Given the description of an element on the screen output the (x, y) to click on. 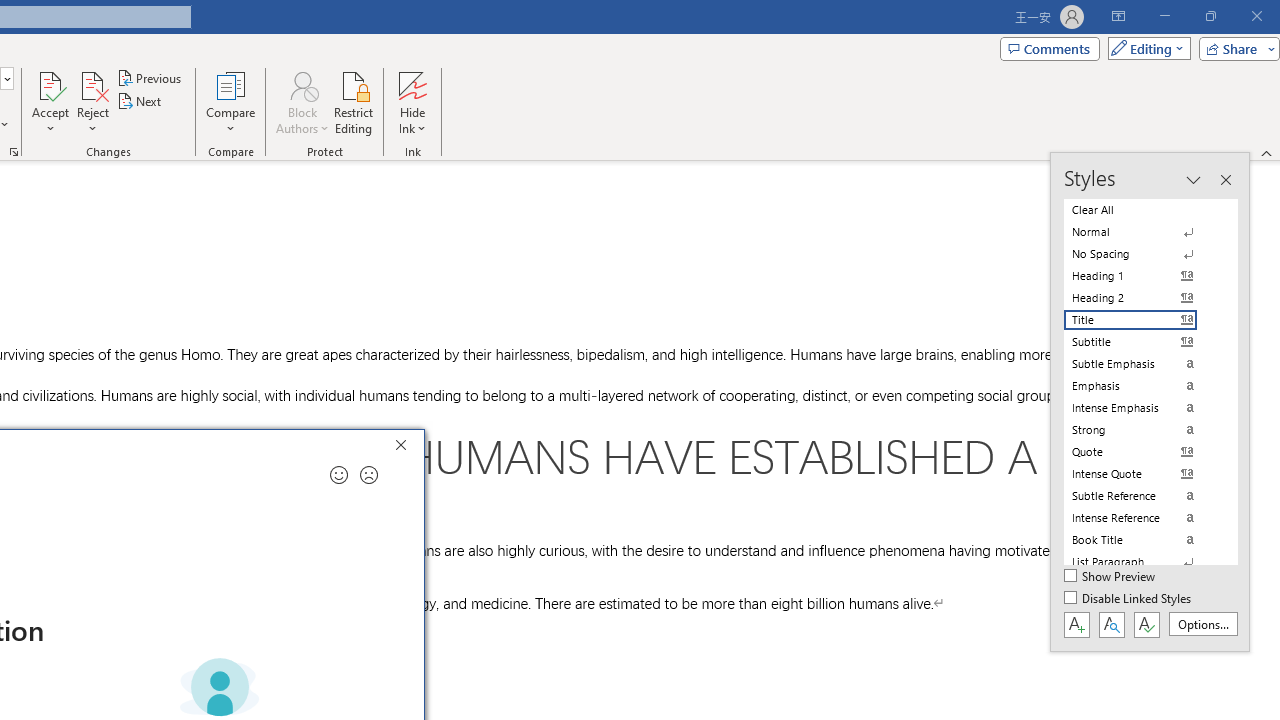
Options... (1202, 623)
Accept (50, 102)
Disable Linked Styles (1129, 599)
Show Preview (1110, 577)
Change Tracking Options... (13, 151)
Strong (1142, 429)
Restrict Editing (353, 102)
Intense Quote (1142, 473)
Send a smile for feedback (338, 475)
